Given the description of an element on the screen output the (x, y) to click on. 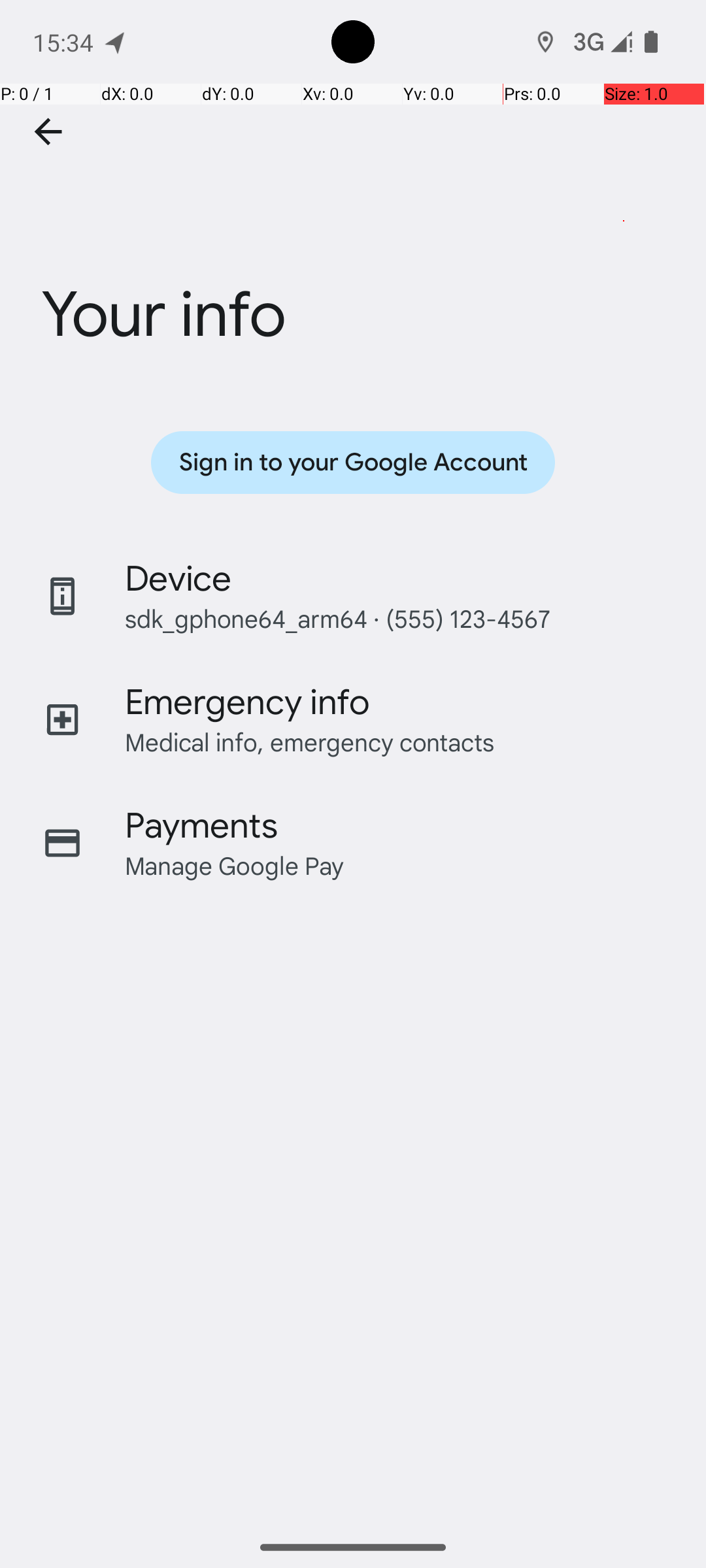
Your info Element type: android.widget.FrameLayout (353, 236)
Sign in to your Google Account Element type: android.widget.Button (352, 462)
Device Element type: android.widget.TextView (178, 578)
sdk_gphone64_arm64 · (555) 123-4567 Element type: android.widget.TextView (337, 618)
Emergency info Element type: android.widget.TextView (246, 702)
Medical info, emergency contacts Element type: android.widget.TextView (309, 741)
Payments Element type: android.widget.TextView (200, 825)
Manage Google Pay Element type: android.widget.TextView (234, 865)
